Given the description of an element on the screen output the (x, y) to click on. 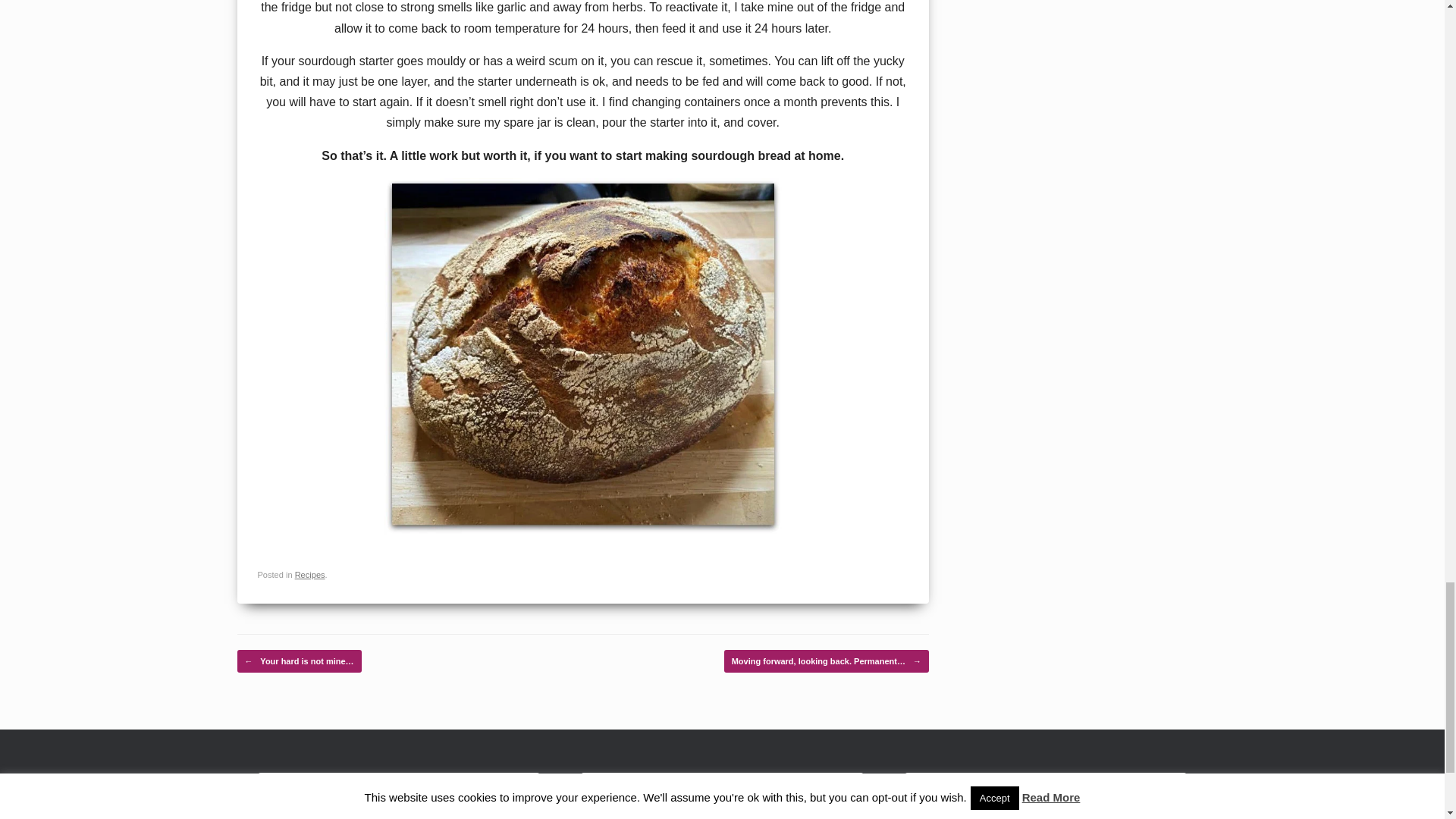
Recipes (309, 574)
